Given the description of an element on the screen output the (x, y) to click on. 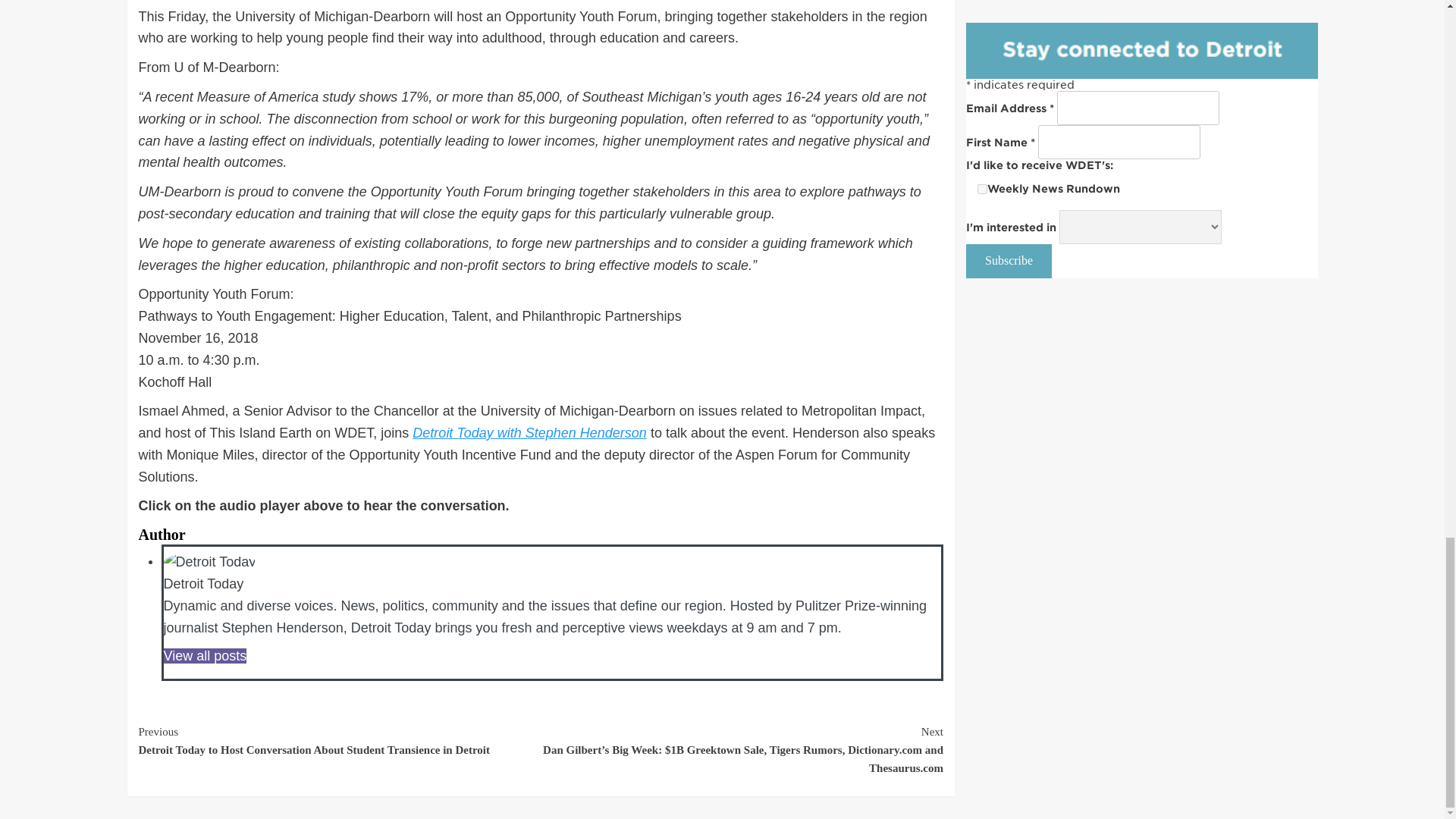
Detroit Today with Stephen Henderson (529, 432)
Detroit Today (203, 583)
View all posts (205, 655)
